Given the description of an element on the screen output the (x, y) to click on. 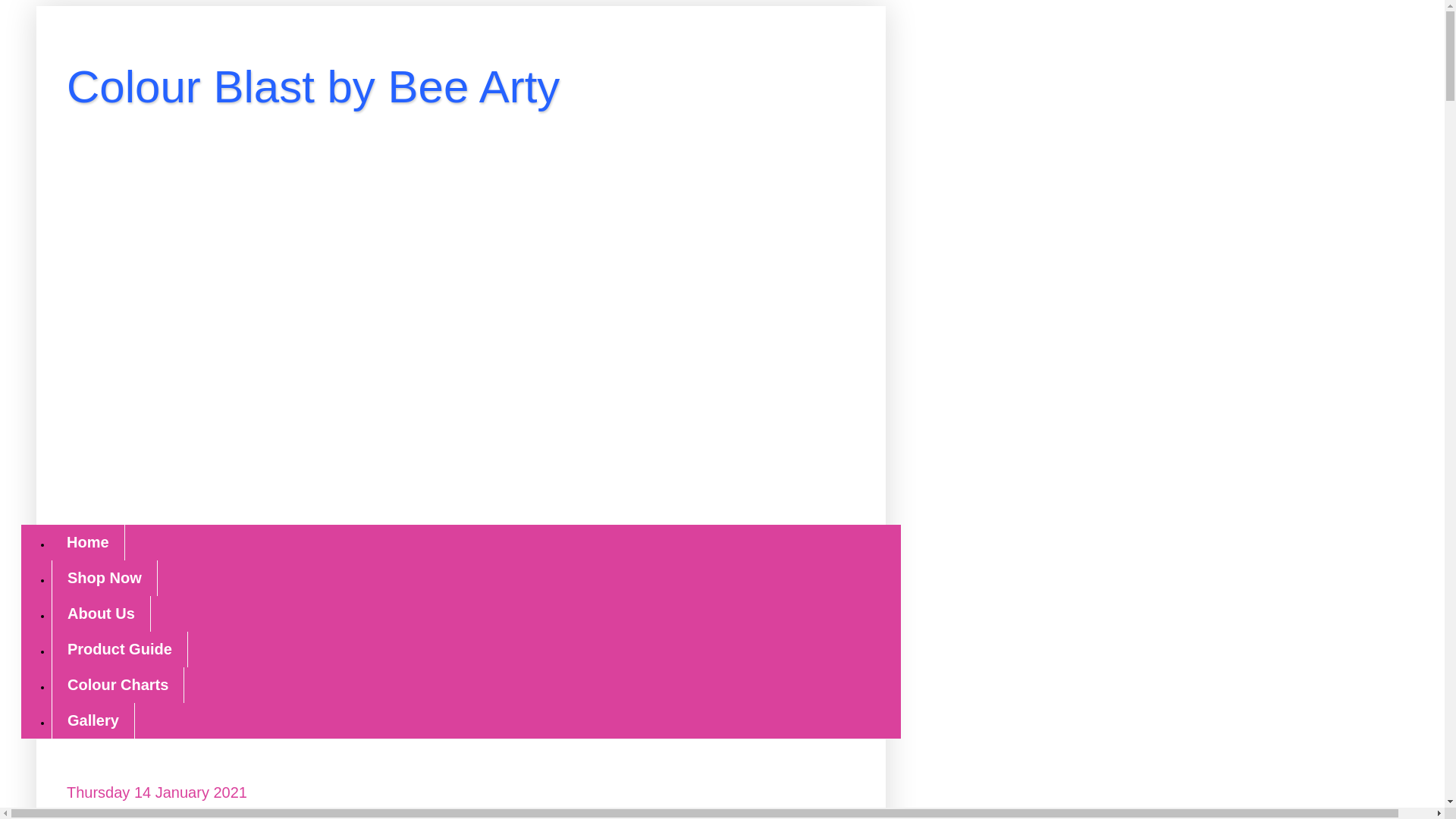
Colour Charts (117, 684)
Shop Now (103, 578)
About Us (100, 613)
Home (87, 542)
Gallery (92, 720)
Product Guide (118, 649)
Colour Blast by Bee Arty (312, 86)
